Given the description of an element on the screen output the (x, y) to click on. 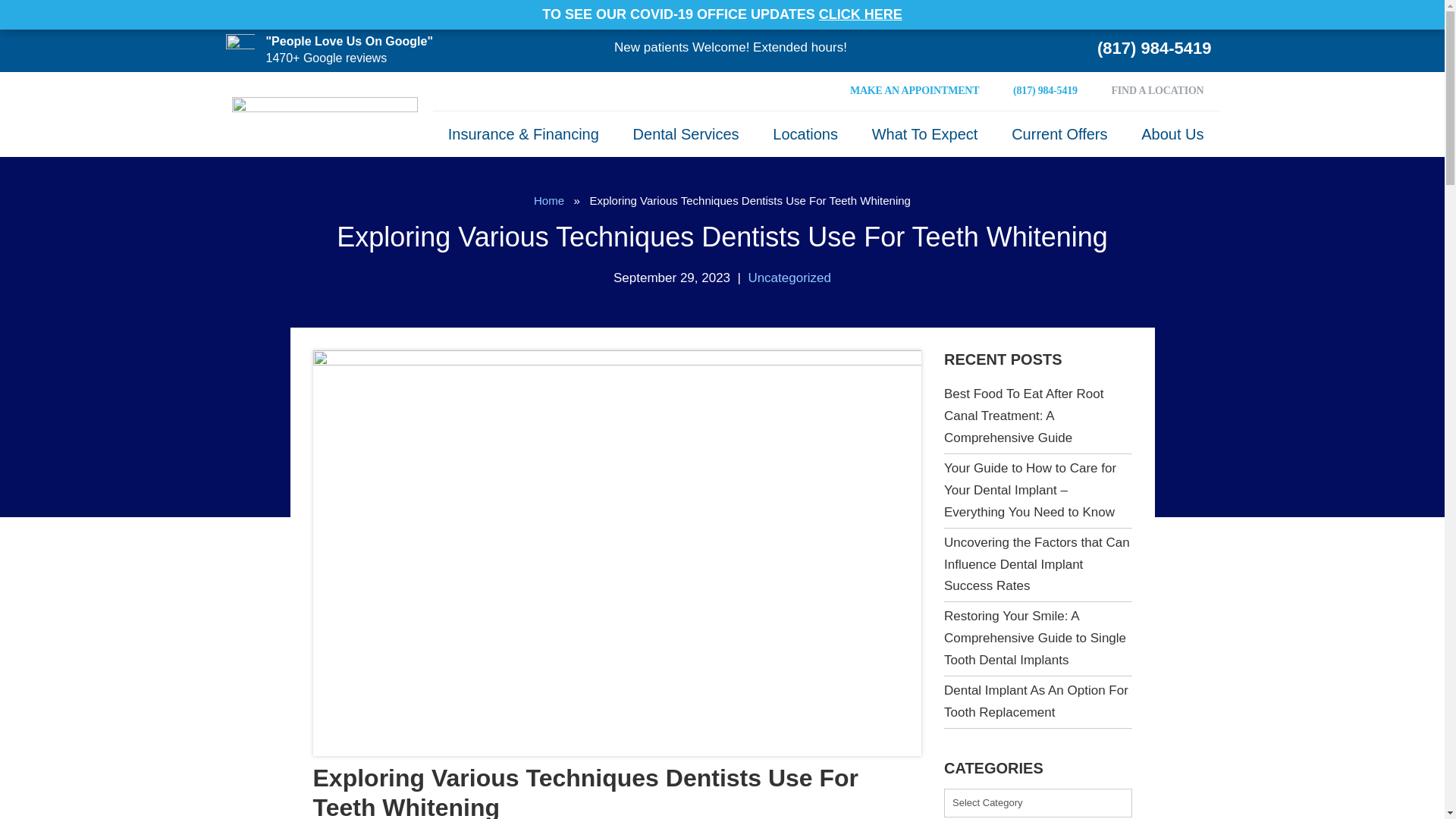
Locations (805, 134)
CLICK HERE (860, 14)
Dental Services (685, 134)
FIND A LOCATION (1158, 90)
MAKE AN APPOINTMENT (914, 90)
